Given the description of an element on the screen output the (x, y) to click on. 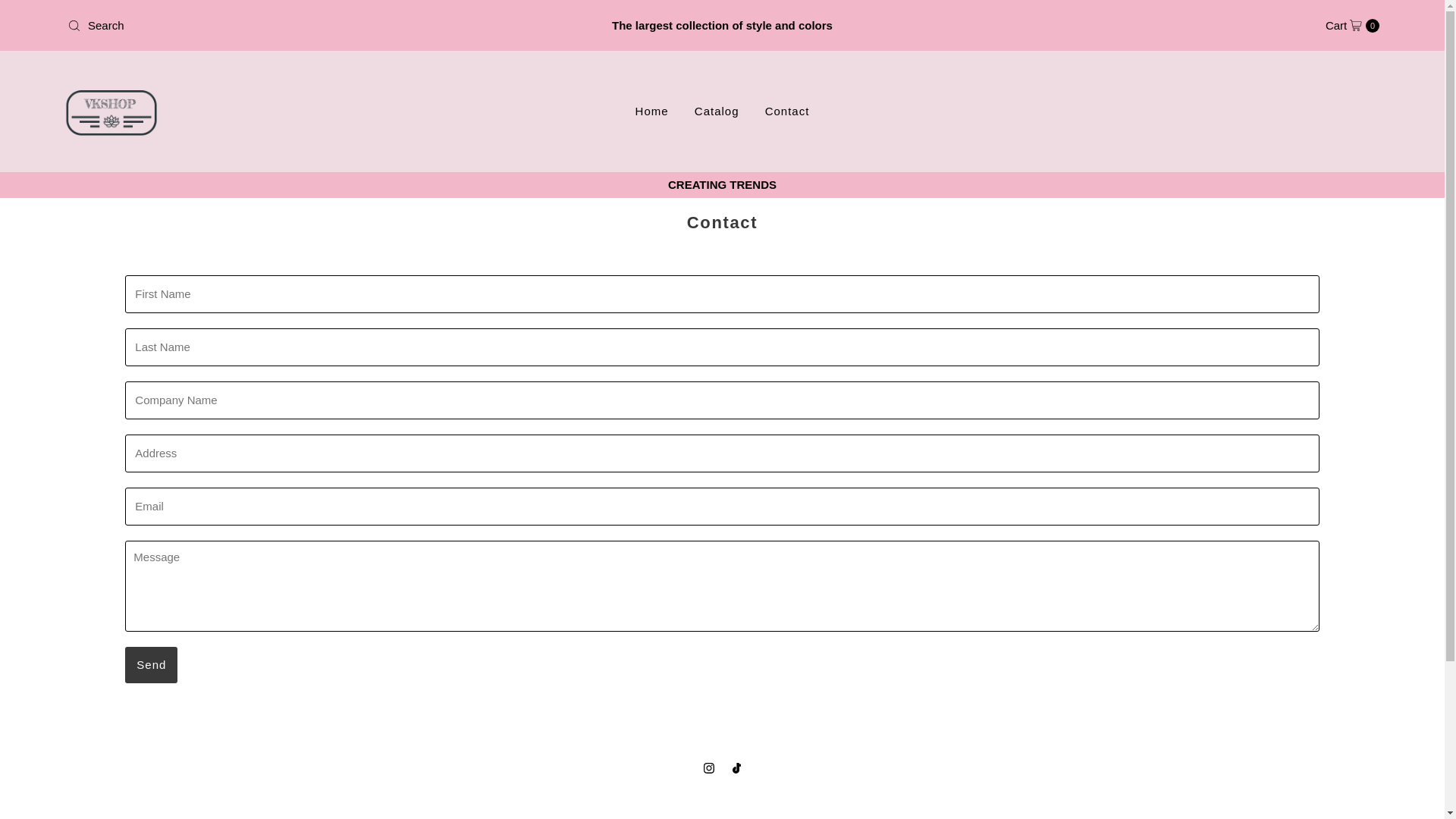
Search our store (277, 25)
Send (151, 665)
Home (651, 111)
Contact (1351, 25)
Catalog (787, 111)
Send (716, 111)
Skip to content (151, 665)
